Given the description of an element on the screen output the (x, y) to click on. 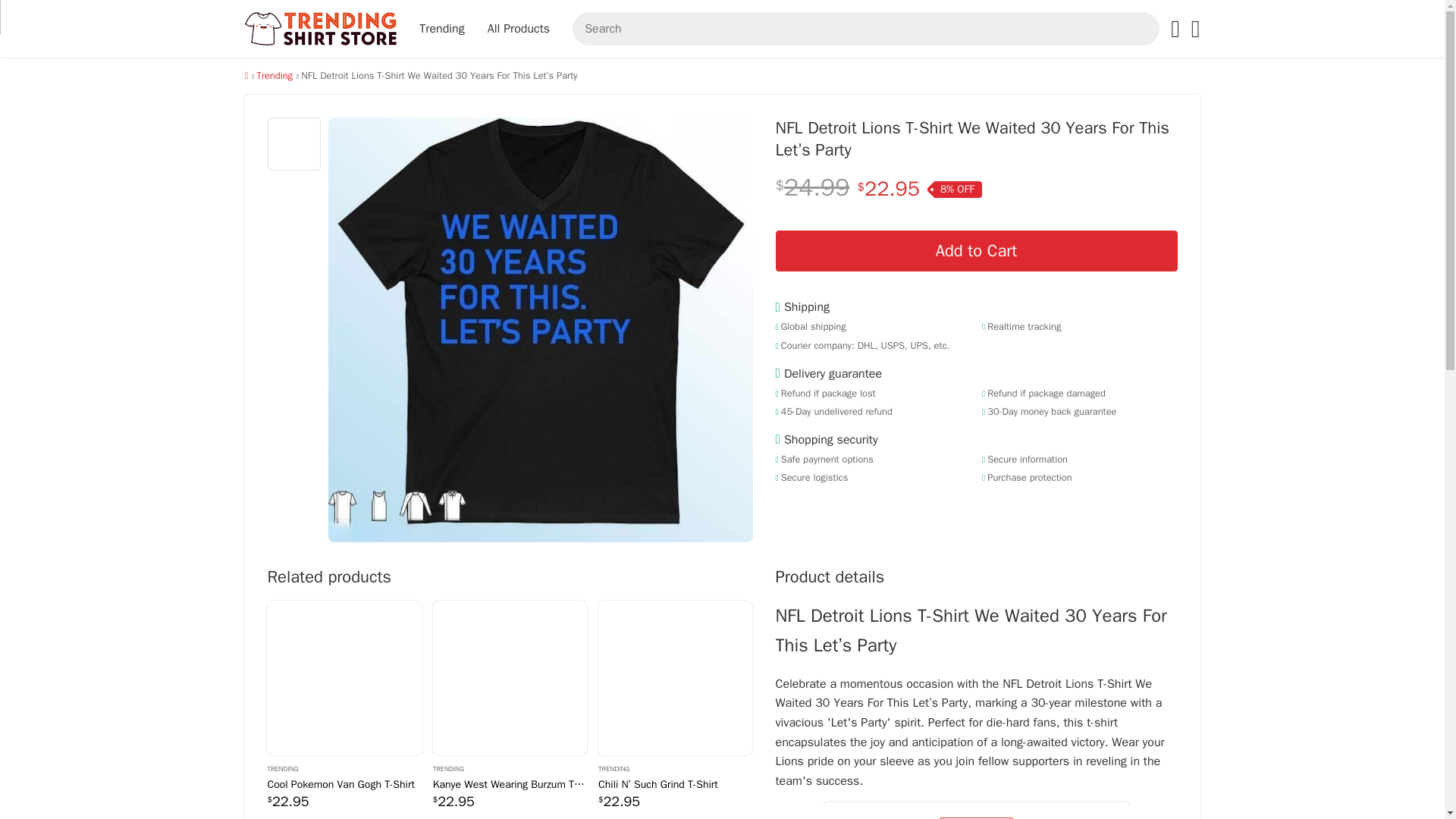
Trending (274, 75)
Kanye West Wearing Burzum T-Shirt (509, 678)
Kanye West Wearing Burzum T-Shirt (509, 677)
Trending (509, 767)
Kanye West Wearing Burzum T-Shirt (509, 784)
Trending (675, 767)
Trending (274, 75)
Trending (343, 767)
Add to Cart (975, 250)
Cool Pokemon Van Gogh T-Shirt (343, 677)
